Given the description of an element on the screen output the (x, y) to click on. 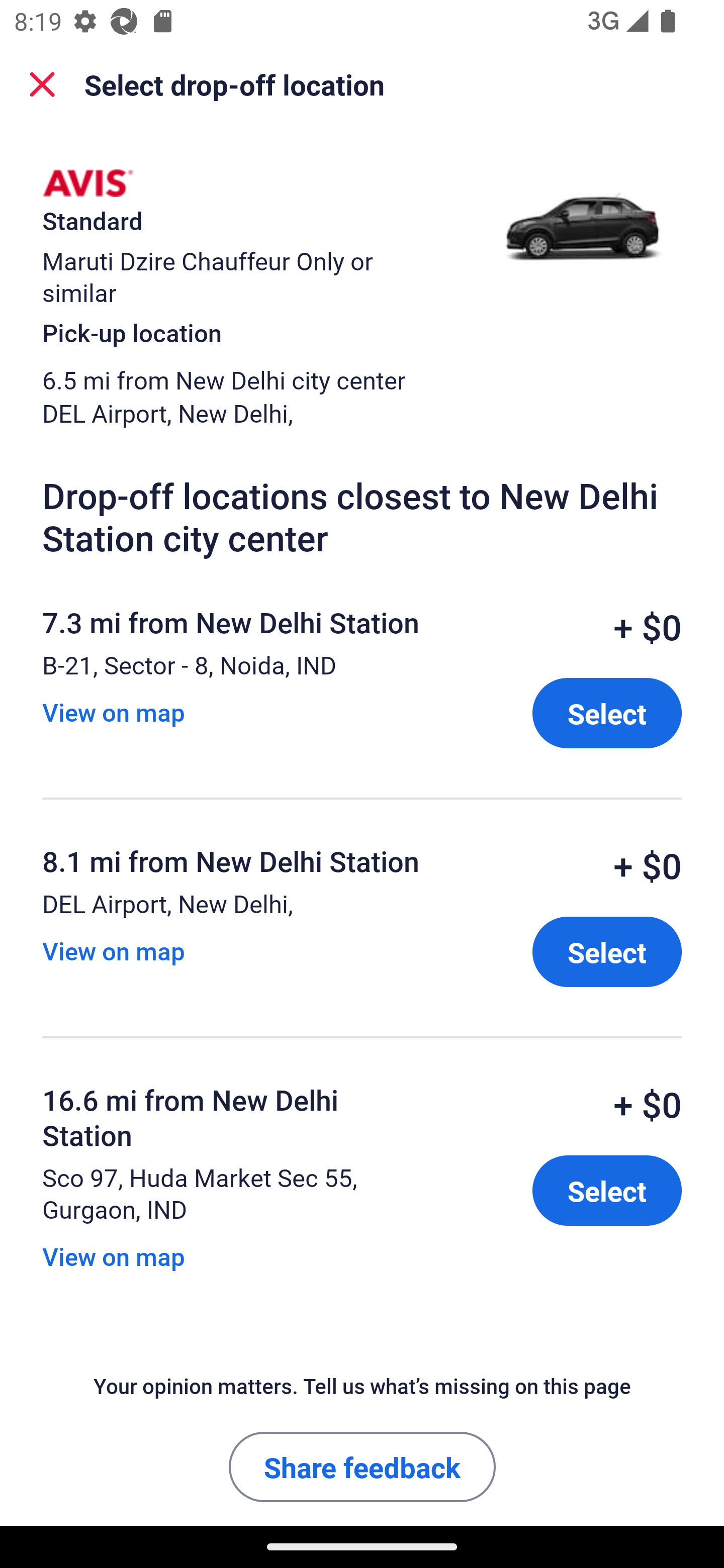
Back (42, 84)
Share feedback (361, 1466)
